Given the description of an element on the screen output the (x, y) to click on. 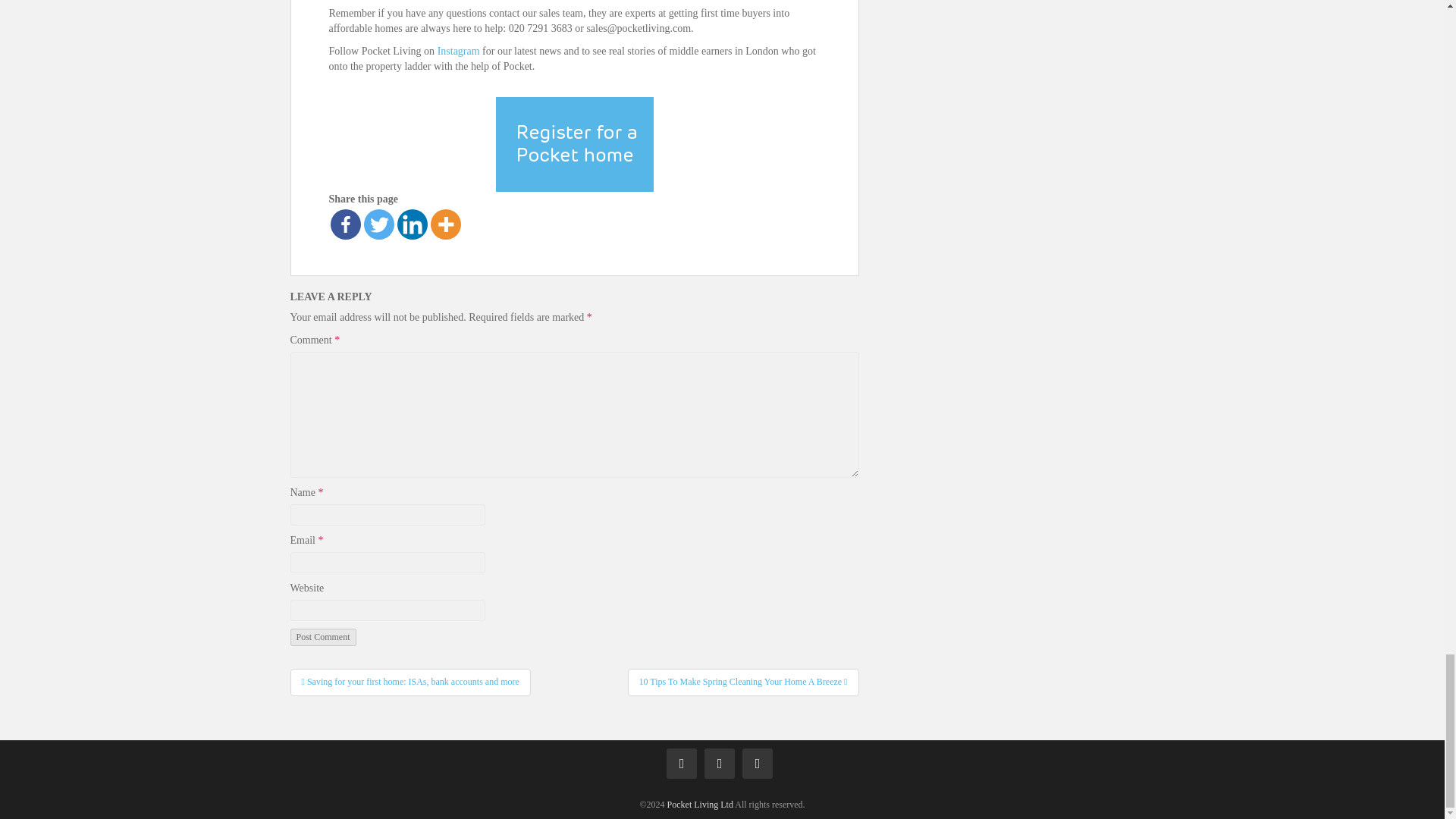
Facebook (345, 224)
Post Comment (322, 637)
Post Comment (322, 637)
Linkedin (412, 224)
More (445, 224)
Instagram (459, 50)
10 Tips To Make Spring Cleaning Your Home A Breeze (743, 682)
Twitter (379, 224)
Pocket (699, 804)
Saving for your first home: ISAs, bank accounts and more (409, 682)
